Given the description of an element on the screen output the (x, y) to click on. 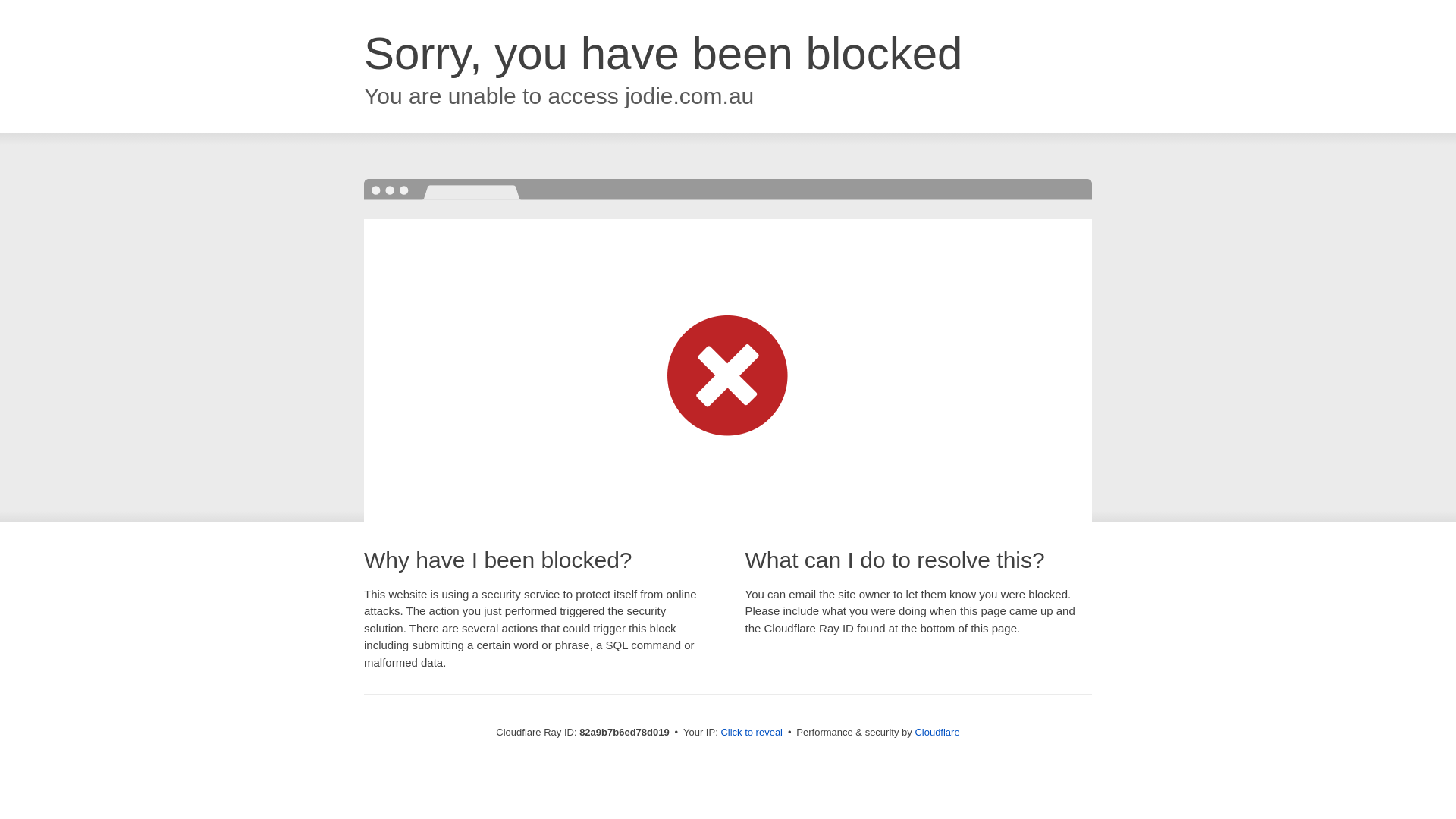
Cloudflare Element type: text (936, 731)
Click to reveal Element type: text (751, 732)
